Given the description of an element on the screen output the (x, y) to click on. 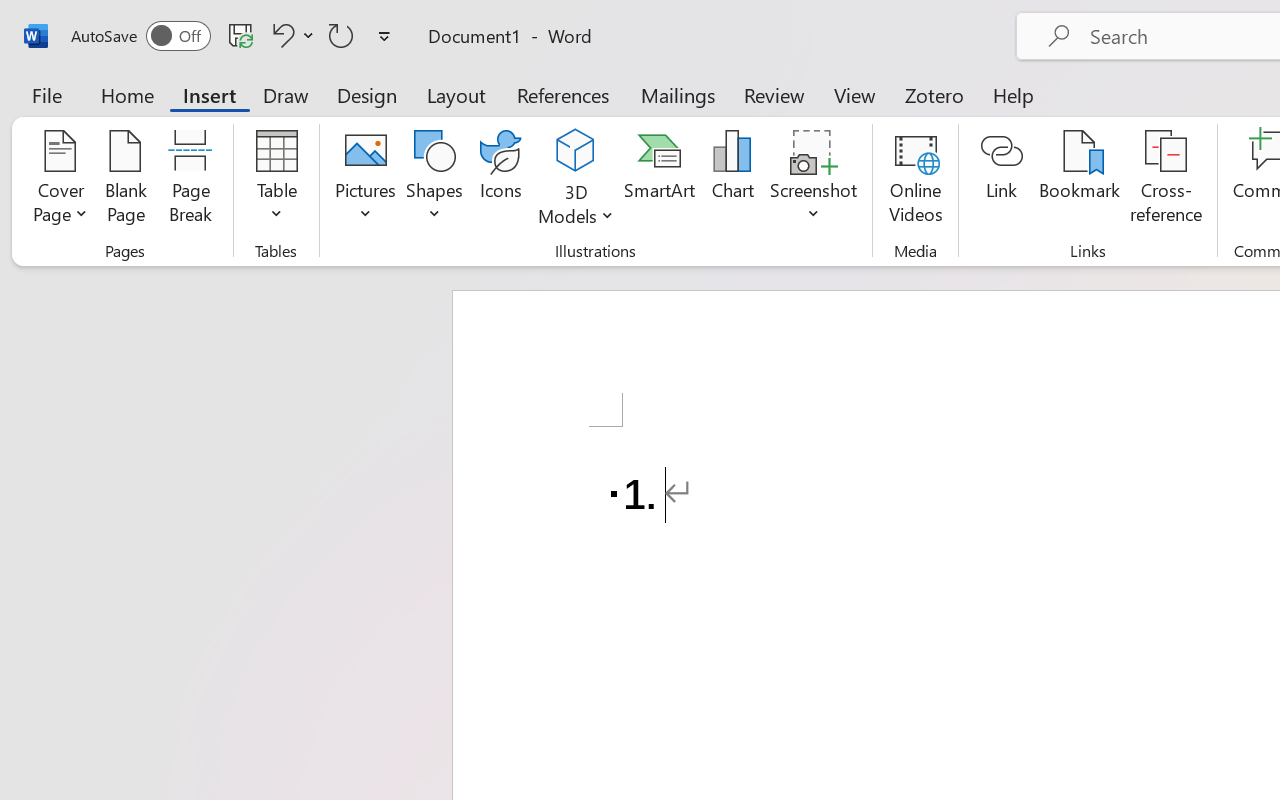
Repeat Doc Close (341, 35)
Screenshot (813, 179)
Blank Page (125, 179)
3D Models (576, 151)
Online Videos... (915, 179)
